Given the description of an element on the screen output the (x, y) to click on. 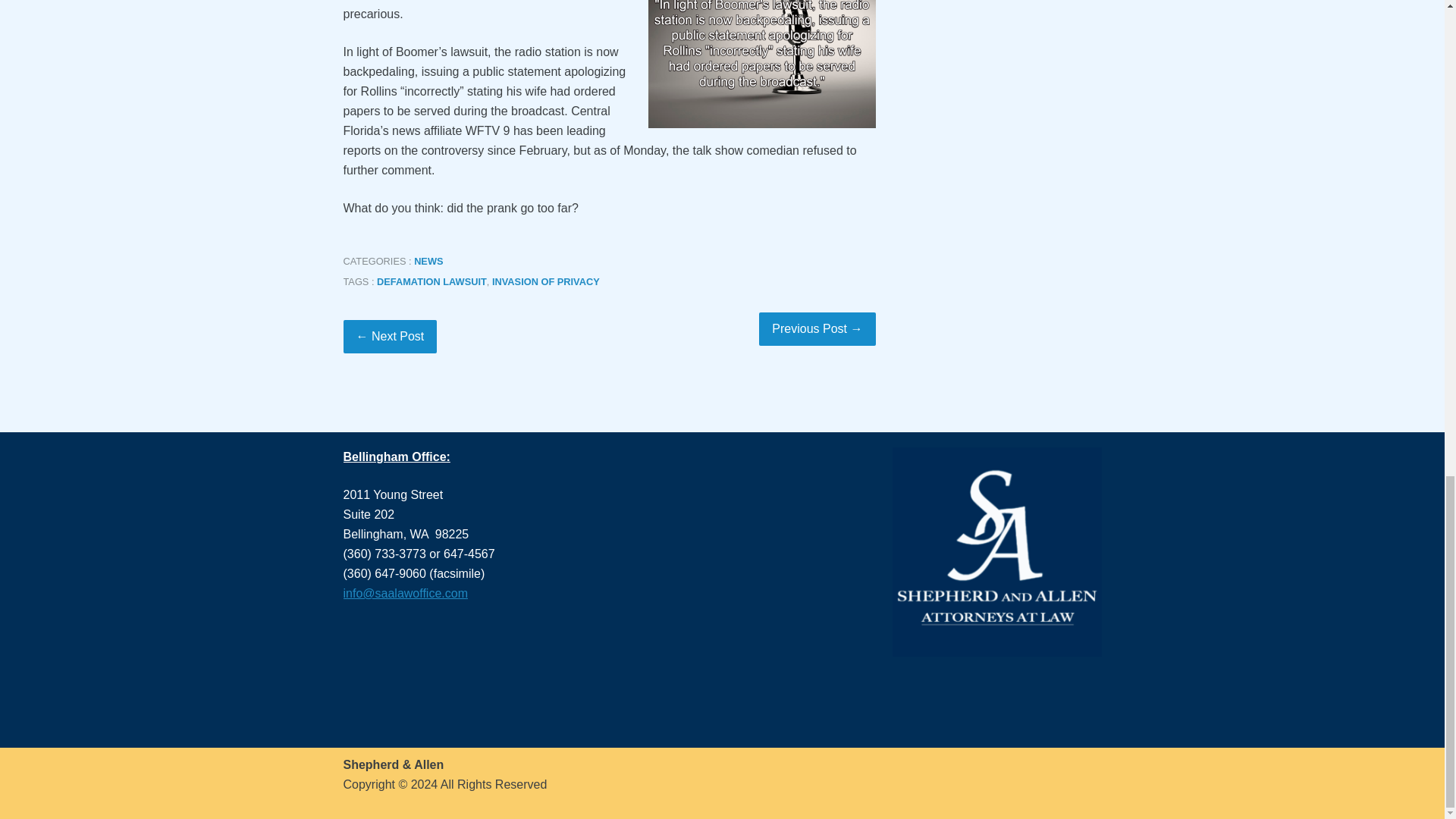
DEFAMATION LAWSUIT (431, 281)
INVASION OF PRIVACY (545, 281)
NEWS (427, 260)
